Given the description of an element on the screen output the (x, y) to click on. 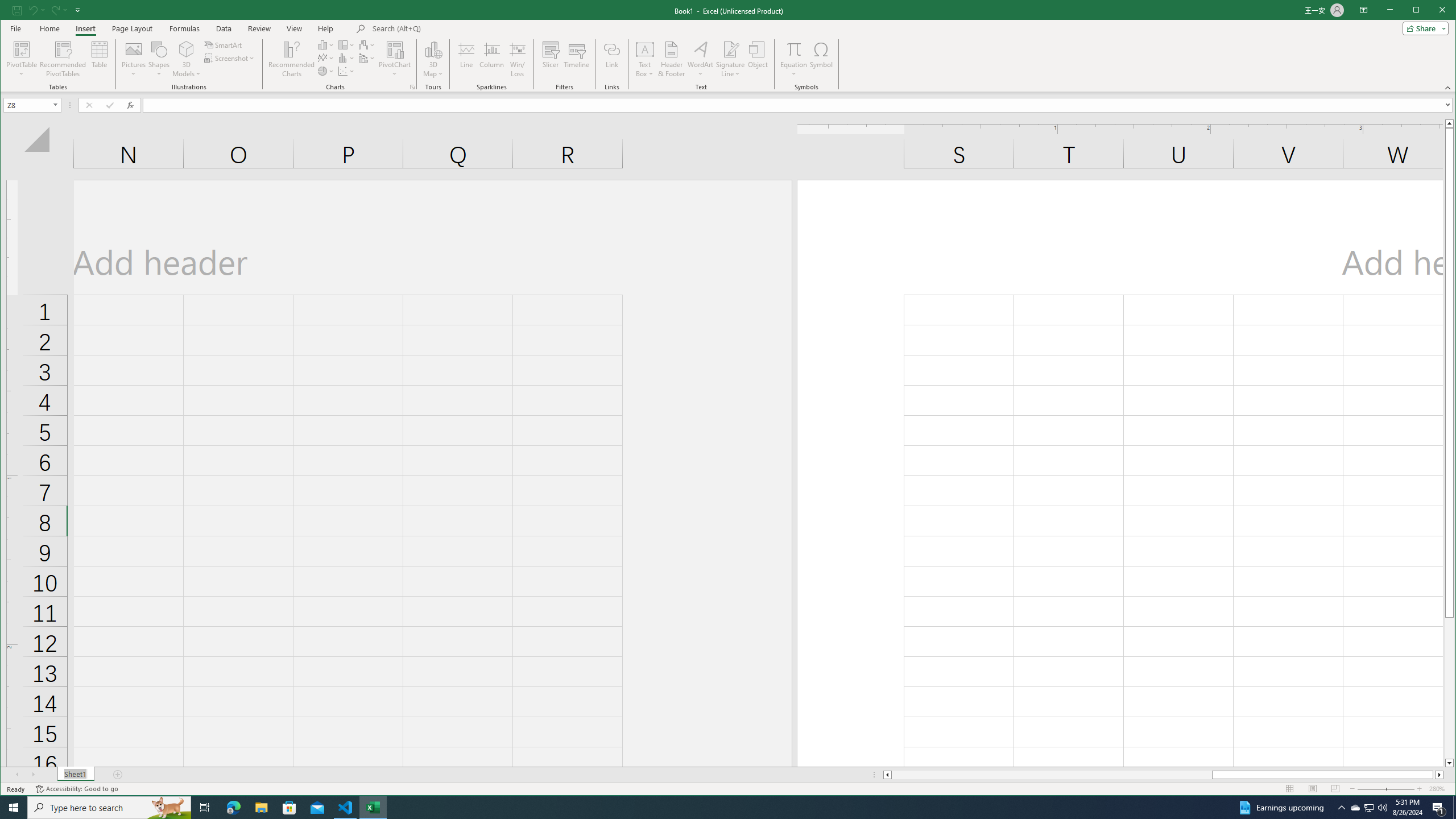
Microsoft Store (289, 807)
Timeline (576, 59)
Running applications (717, 807)
PivotChart (394, 48)
Screenshot (229, 57)
Insert Line or Area Chart (325, 57)
Maximize (1432, 11)
Task View (204, 807)
Excel - 1 running window (373, 807)
SmartArt... (224, 44)
